Given the description of an element on the screen output the (x, y) to click on. 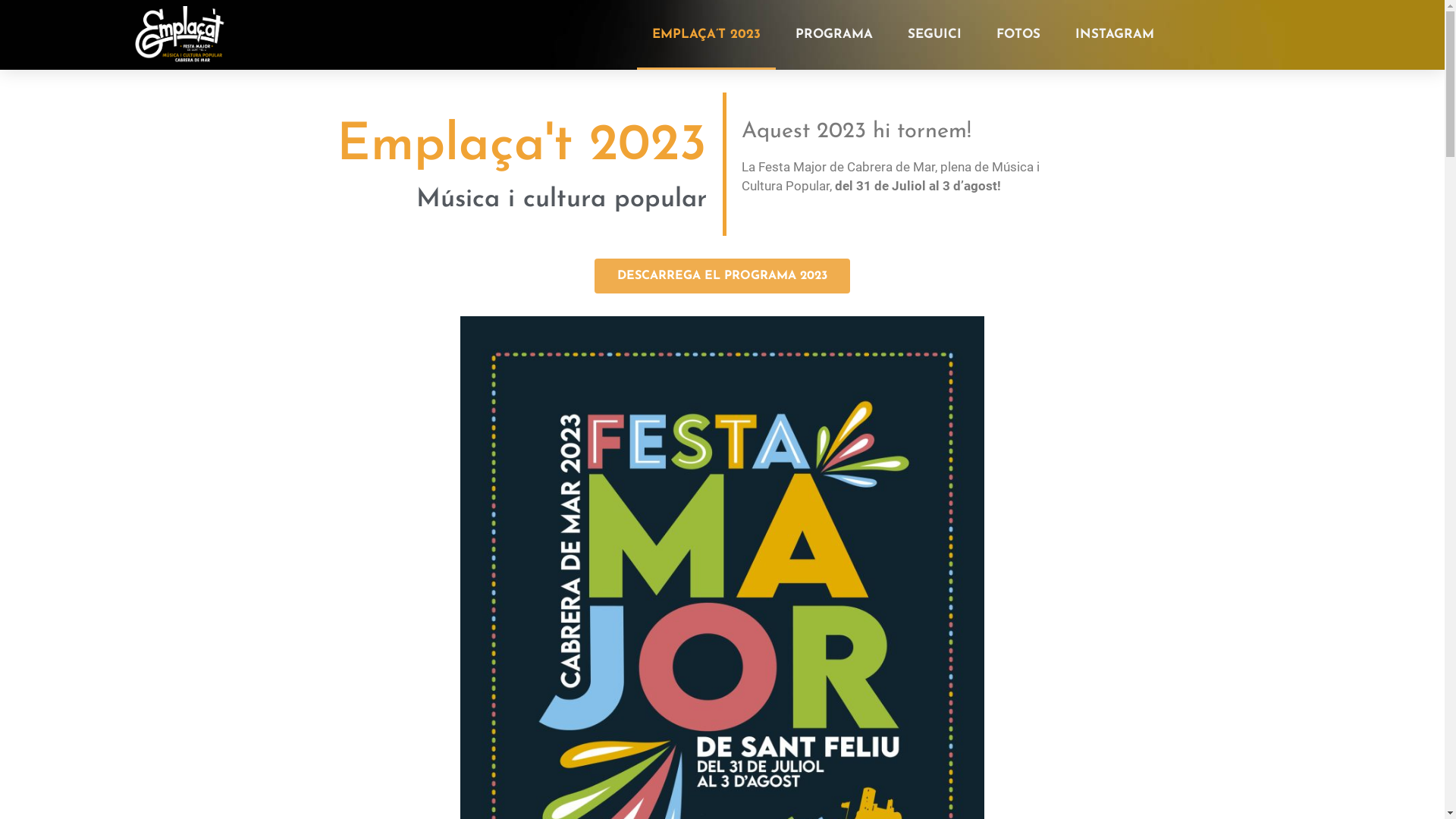
PROGRAMA Element type: text (834, 34)
FOTOS Element type: text (1018, 34)
DESCARREGA EL PROGRAMA 2023 Element type: text (722, 275)
INSTAGRAM Element type: text (1114, 34)
SEGUICI Element type: text (934, 34)
